Given the description of an element on the screen output the (x, y) to click on. 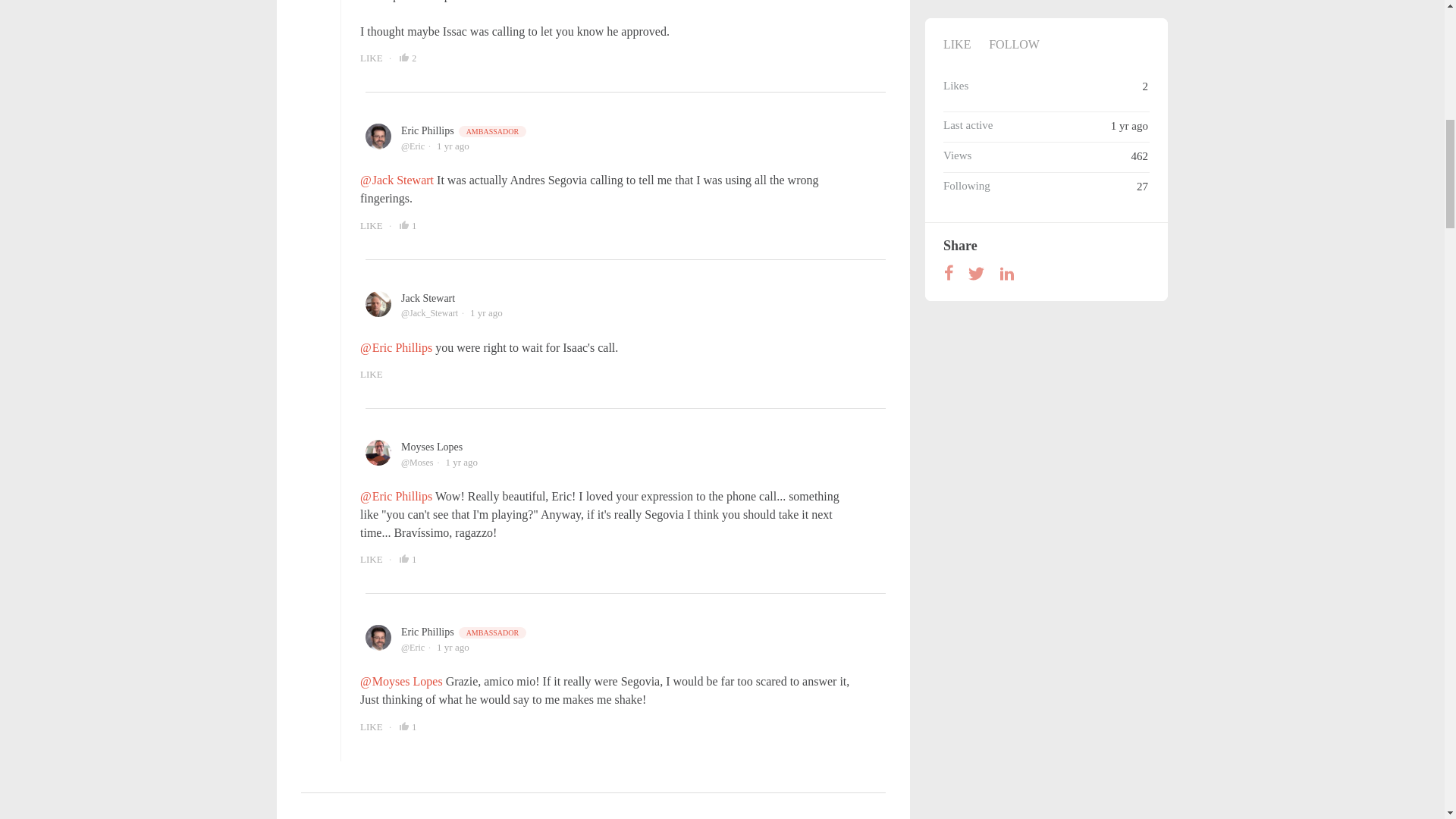
Eric PhillipsAMBASSADOR (464, 130)
Moyses Lopes (432, 446)
Jack Stewart (427, 297)
Eric PhillipsAMBASSADOR (464, 632)
